Given the description of an element on the screen output the (x, y) to click on. 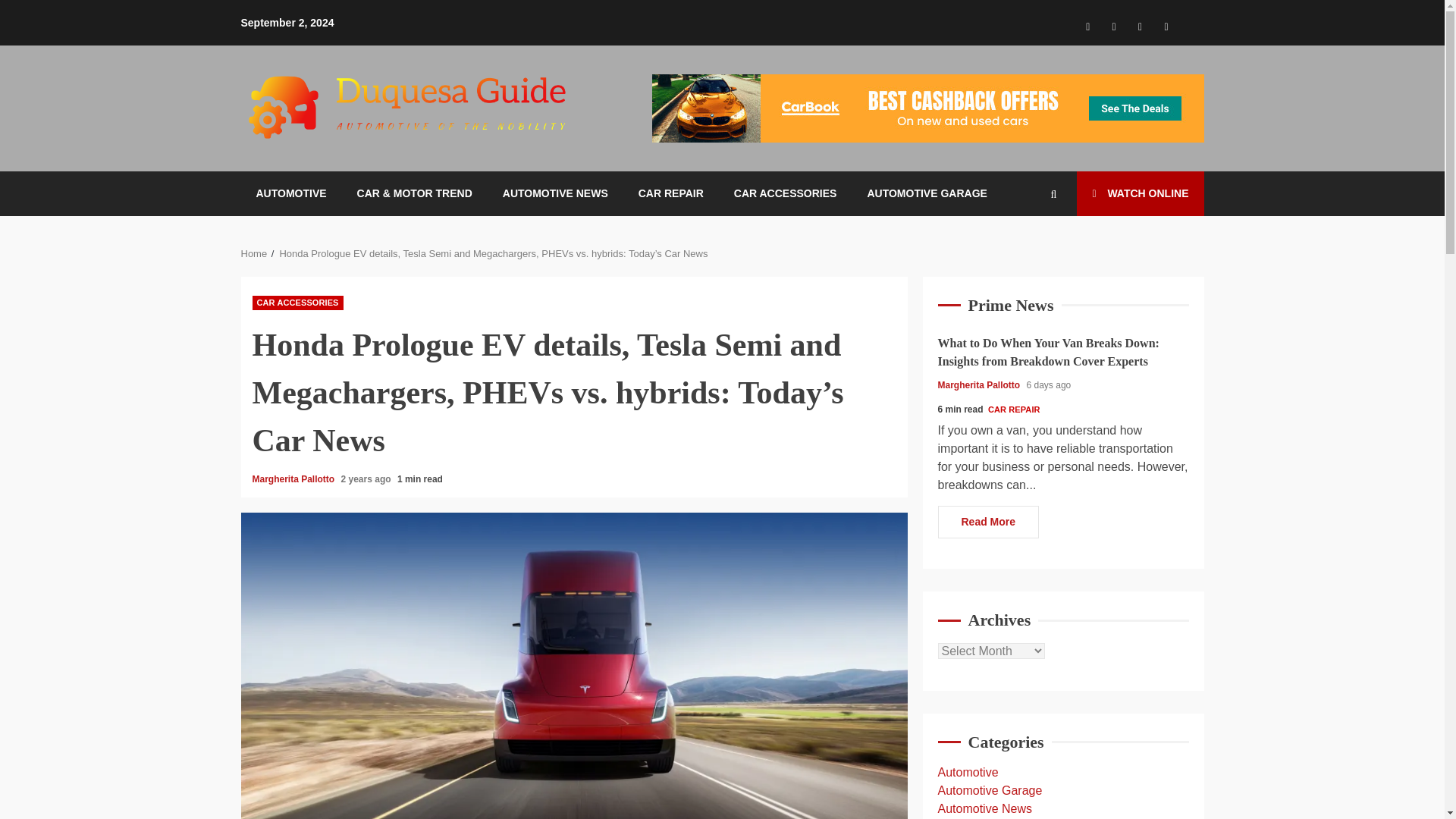
Twiter.com (1192, 18)
Linkedin.com (1165, 26)
CAR REPAIR (671, 193)
Instagram.com (1113, 26)
Home (254, 253)
AUTOMOTIVE (291, 193)
Youtube.com (1140, 26)
CAR ACCESSORIES (785, 193)
CAR ACCESSORIES (296, 302)
AUTOMOTIVE GARAGE (926, 193)
